Given the description of an element on the screen output the (x, y) to click on. 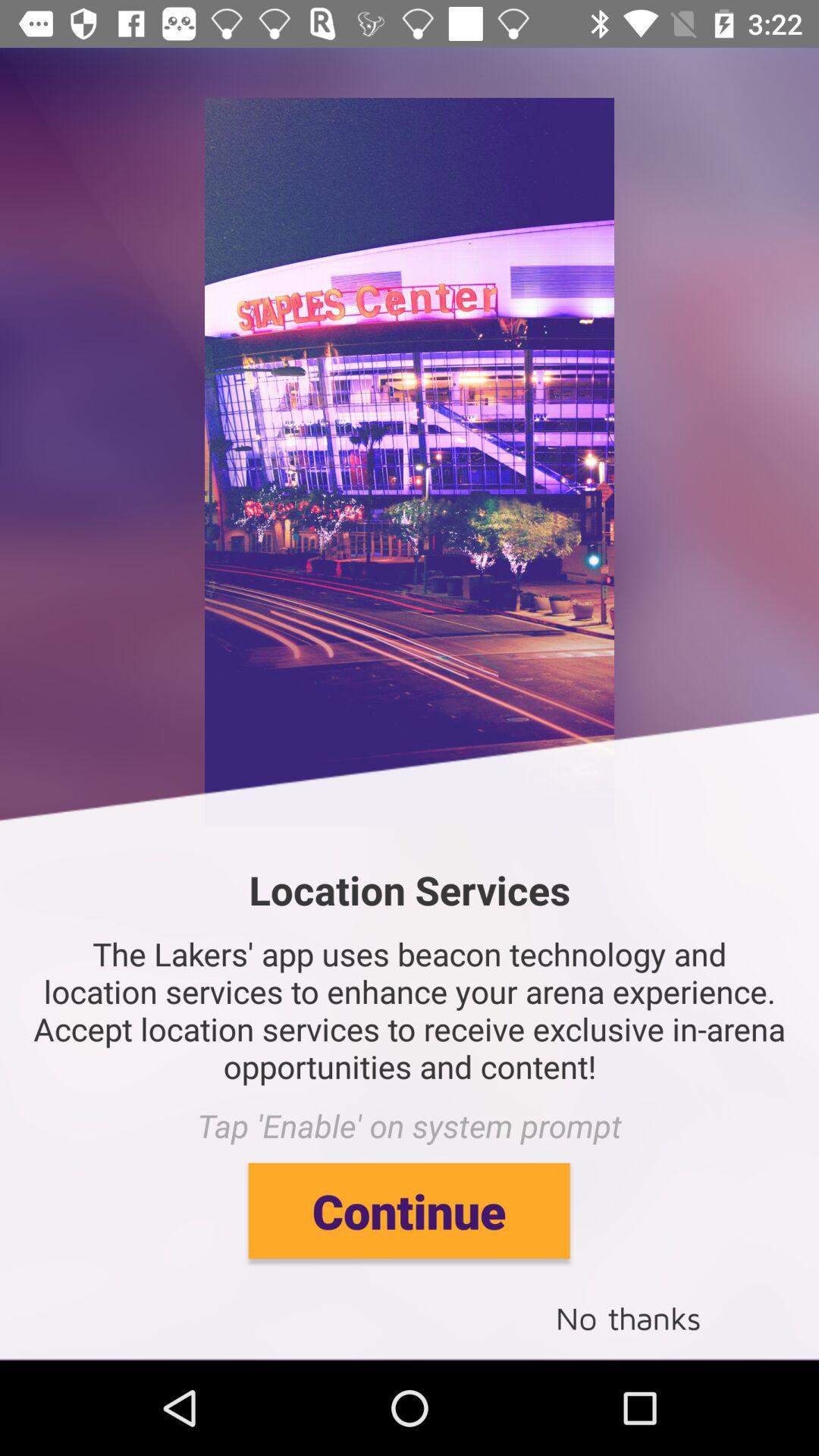
select the icon at the bottom right corner (627, 1317)
